Given the description of an element on the screen output the (x, y) to click on. 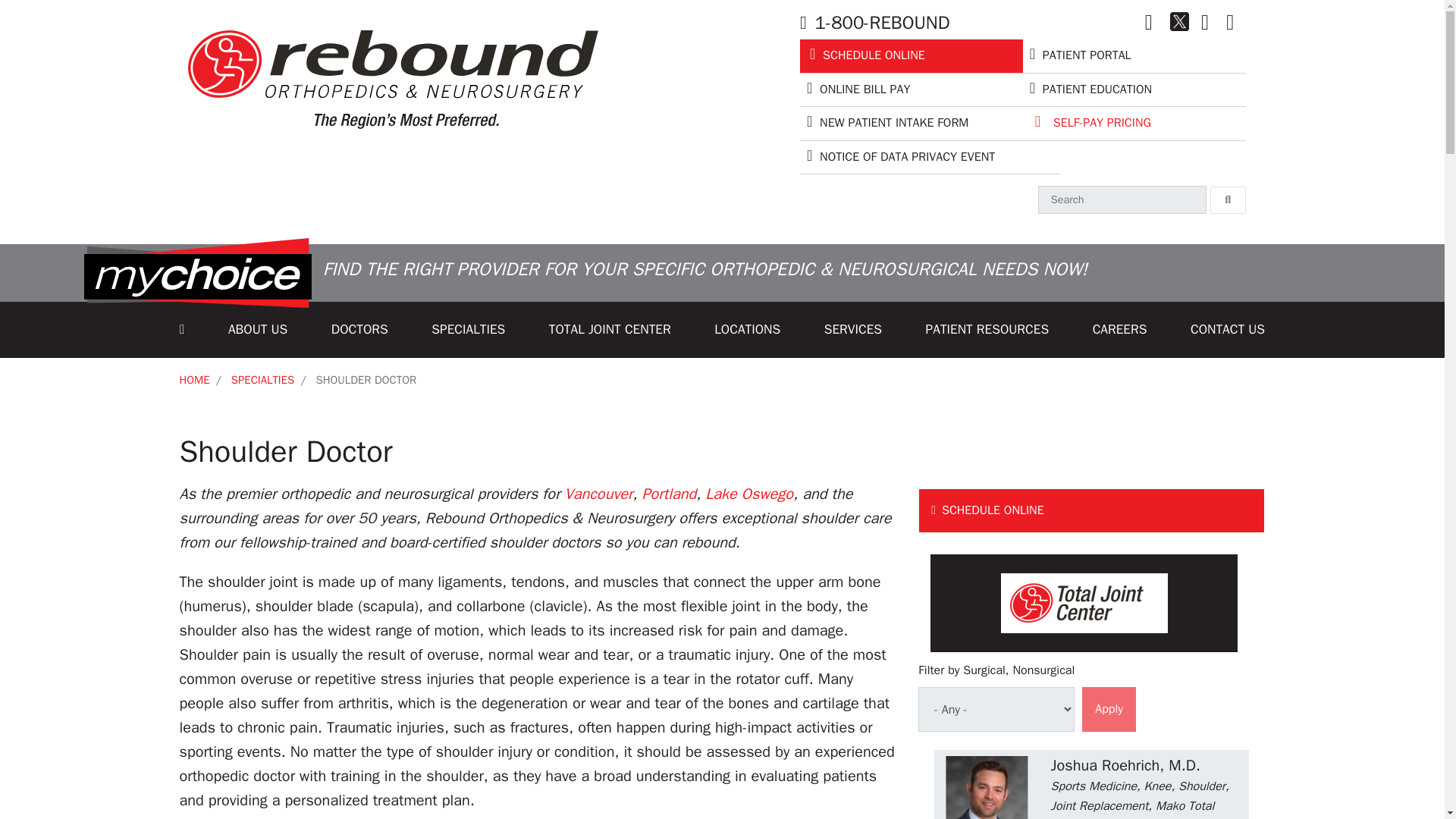
mychoice logo (197, 272)
Home (392, 76)
Enter the terms you wish to search for. (1122, 198)
Apply (1108, 709)
